Given the description of an element on the screen output the (x, y) to click on. 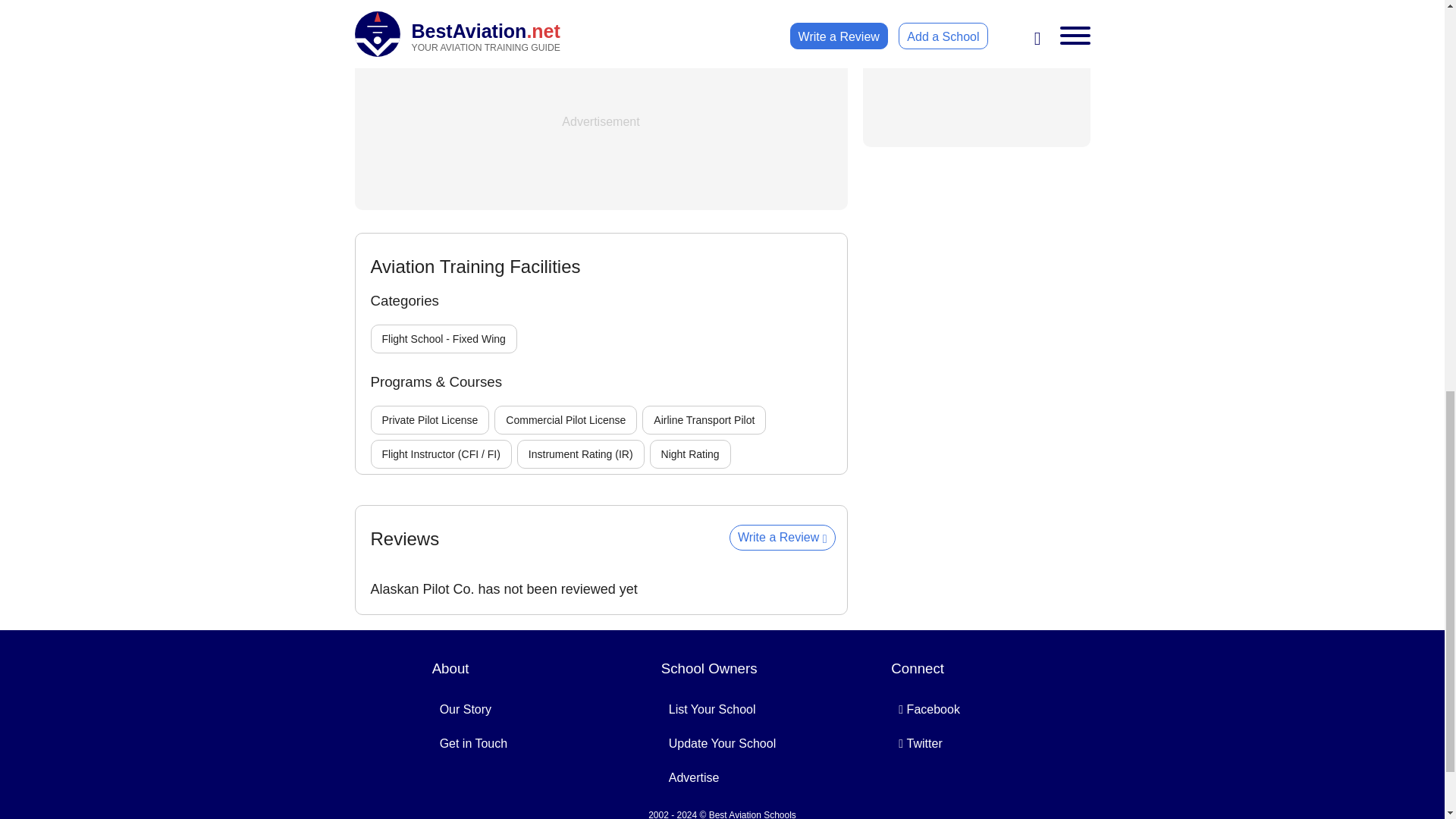
Update Your School (722, 743)
Twitter (920, 743)
Get in Touch (473, 743)
Facebook (929, 709)
Advertise (693, 777)
Write a Review (782, 537)
Our Story (465, 709)
List Your School (711, 709)
